Given the description of an element on the screen output the (x, y) to click on. 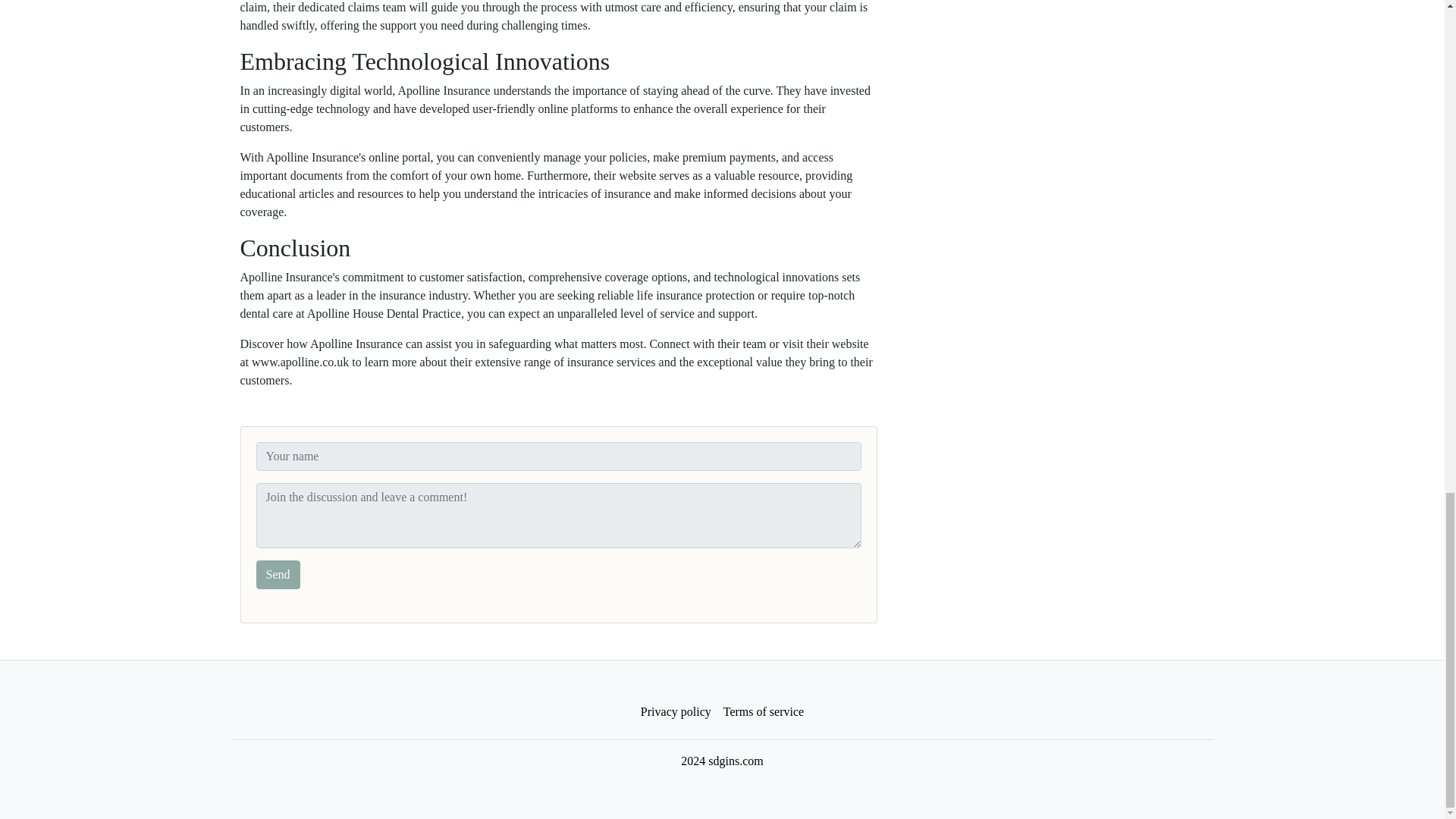
Send (277, 574)
Privacy policy (675, 711)
Terms of service (763, 711)
Send (277, 574)
